Given the description of an element on the screen output the (x, y) to click on. 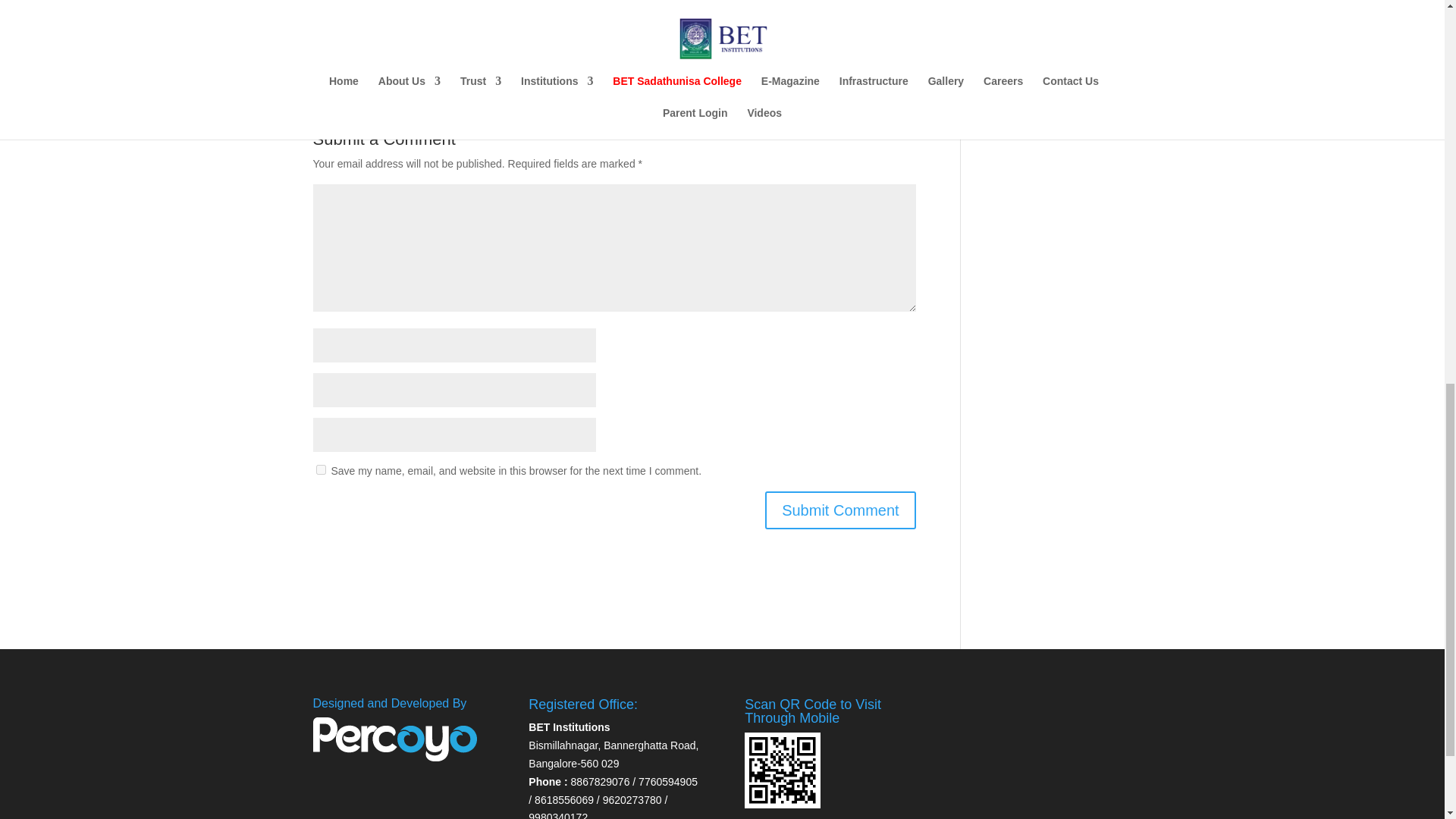
Submit Comment (840, 510)
yes (319, 470)
